Given the description of an element on the screen output the (x, y) to click on. 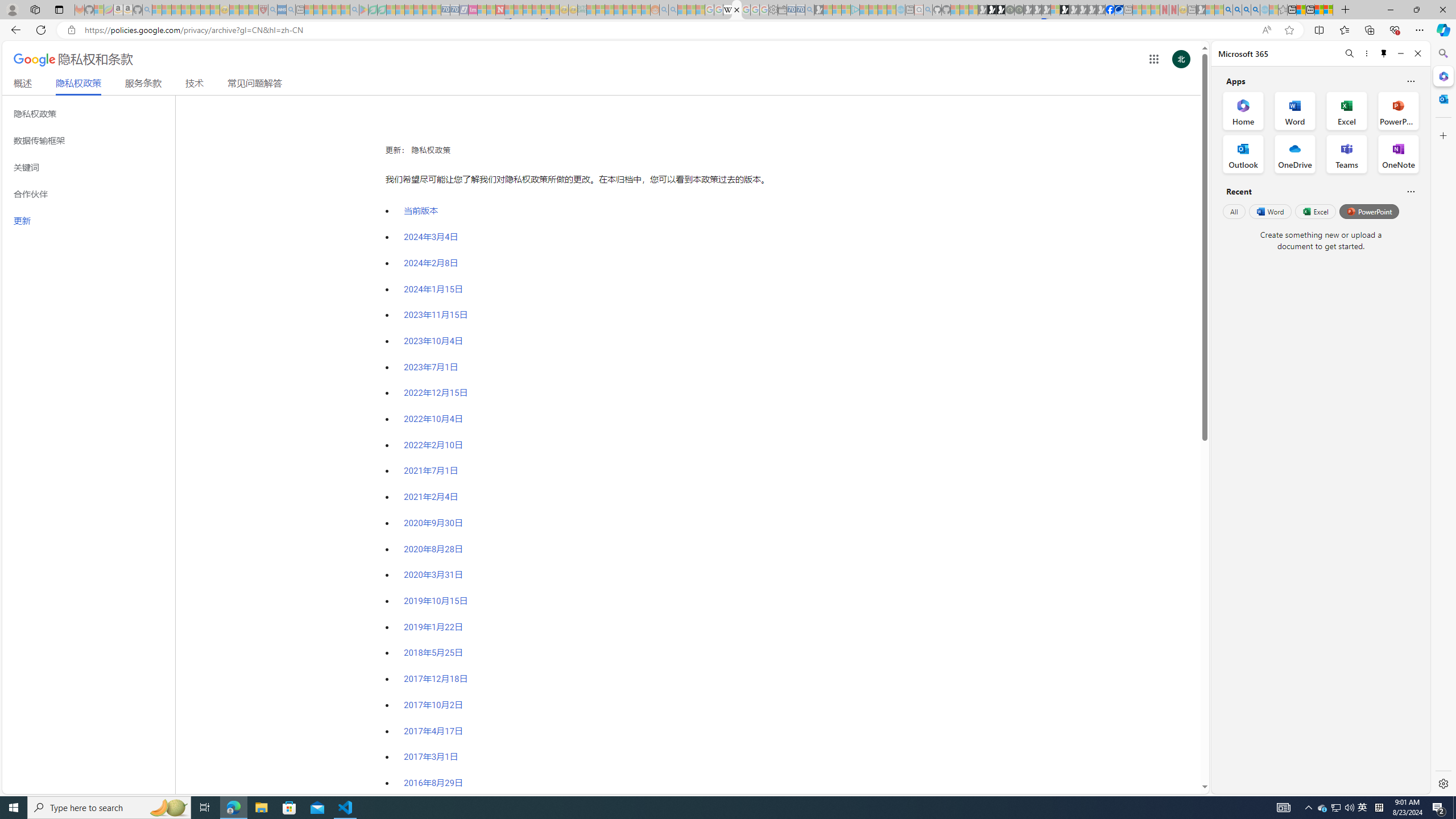
Microsoft-Report a Concern to Bing - Sleeping (98, 9)
Cheap Hotels - Save70.com - Sleeping (454, 9)
OneDrive Office App (1295, 154)
Pets - MSN - Sleeping (336, 9)
github - Search - Sleeping (927, 9)
